Given the description of an element on the screen output the (x, y) to click on. 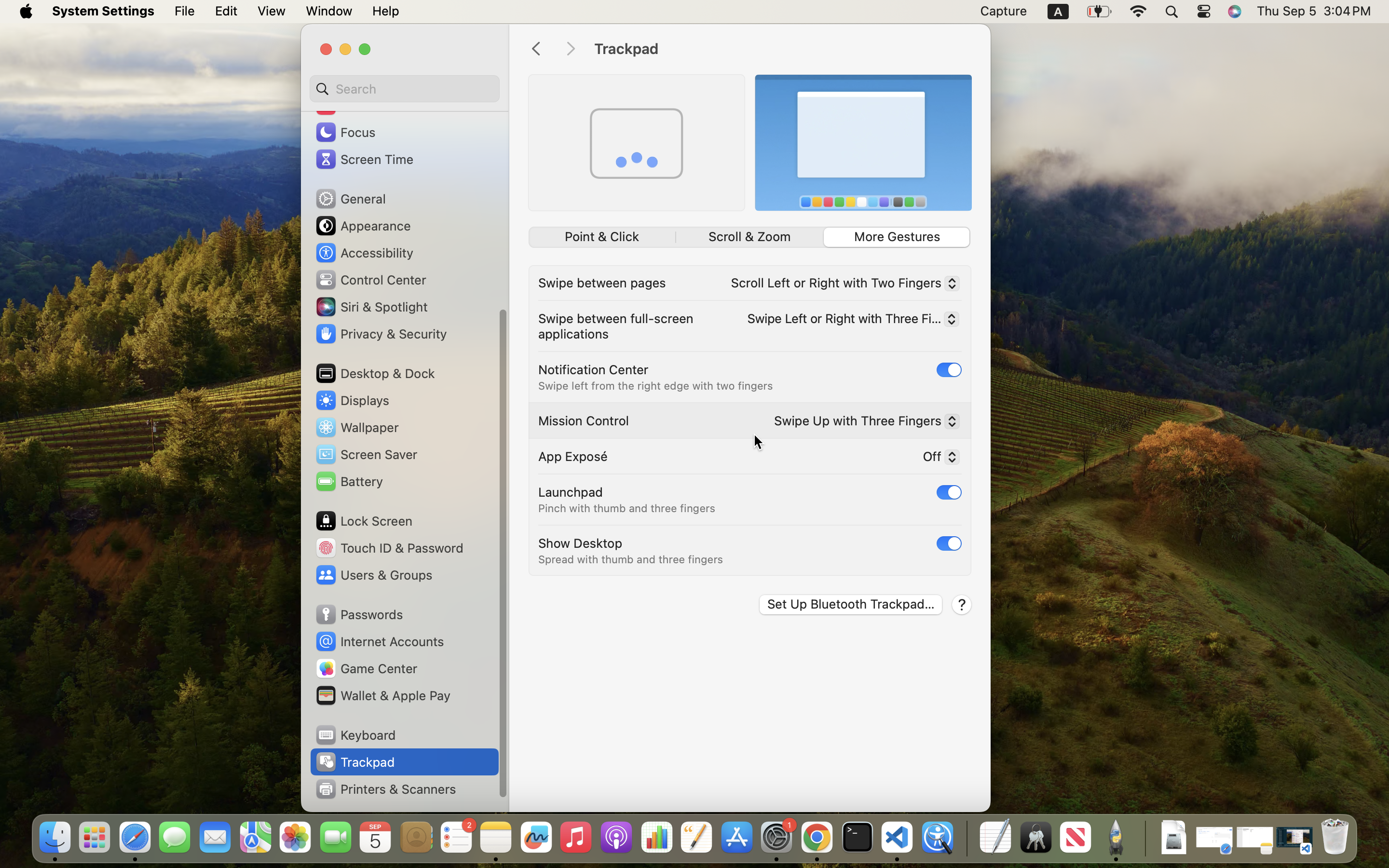
General Element type: AXStaticText (349, 198)
Mission Control Element type: AXStaticText (583, 420)
Appearance Element type: AXStaticText (362, 225)
Screen Saver Element type: AXStaticText (365, 453)
